Given the description of an element on the screen output the (x, y) to click on. 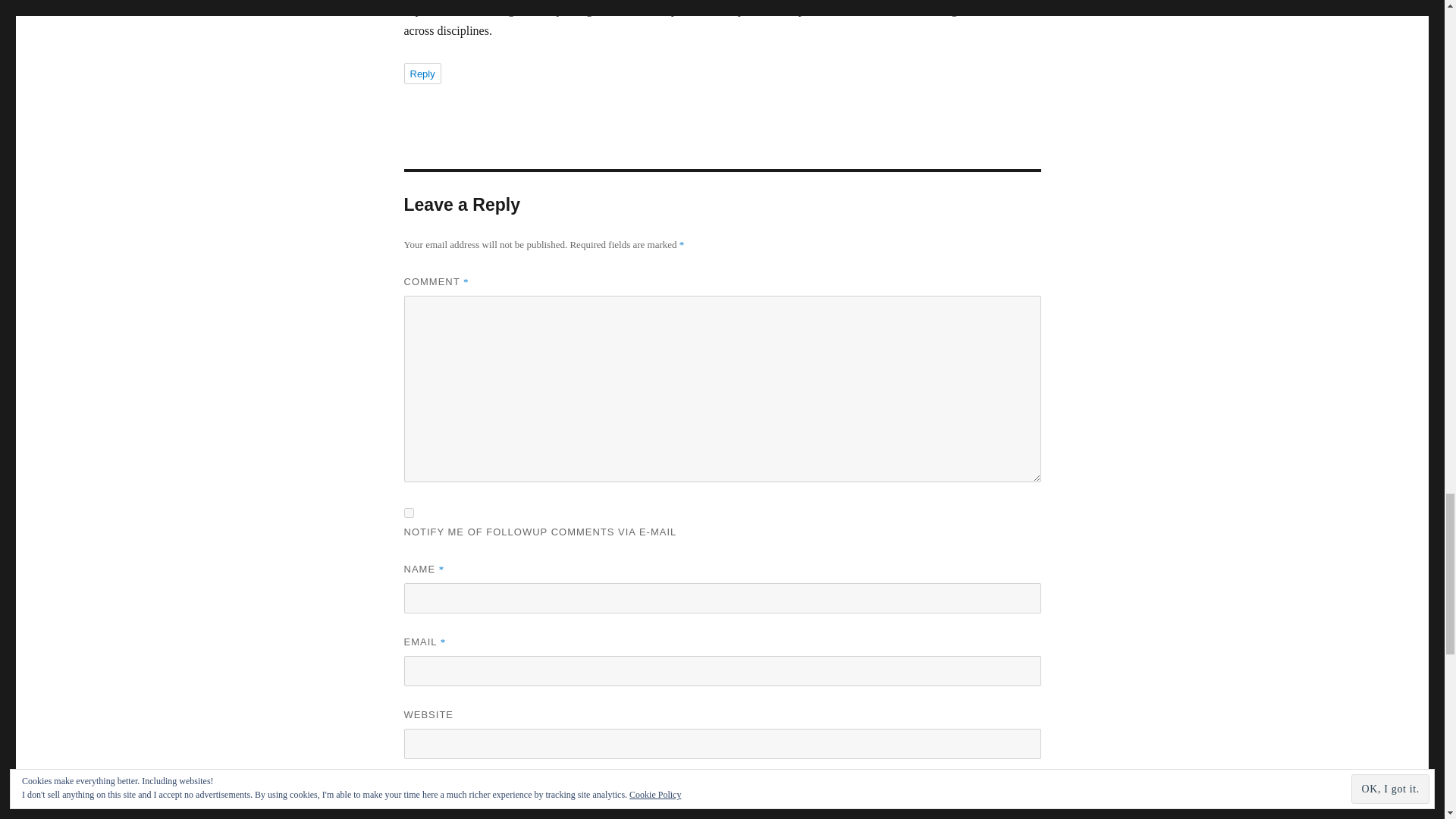
Reply (422, 73)
subscribe (408, 512)
subscribe (408, 789)
